Given the description of an element on the screen output the (x, y) to click on. 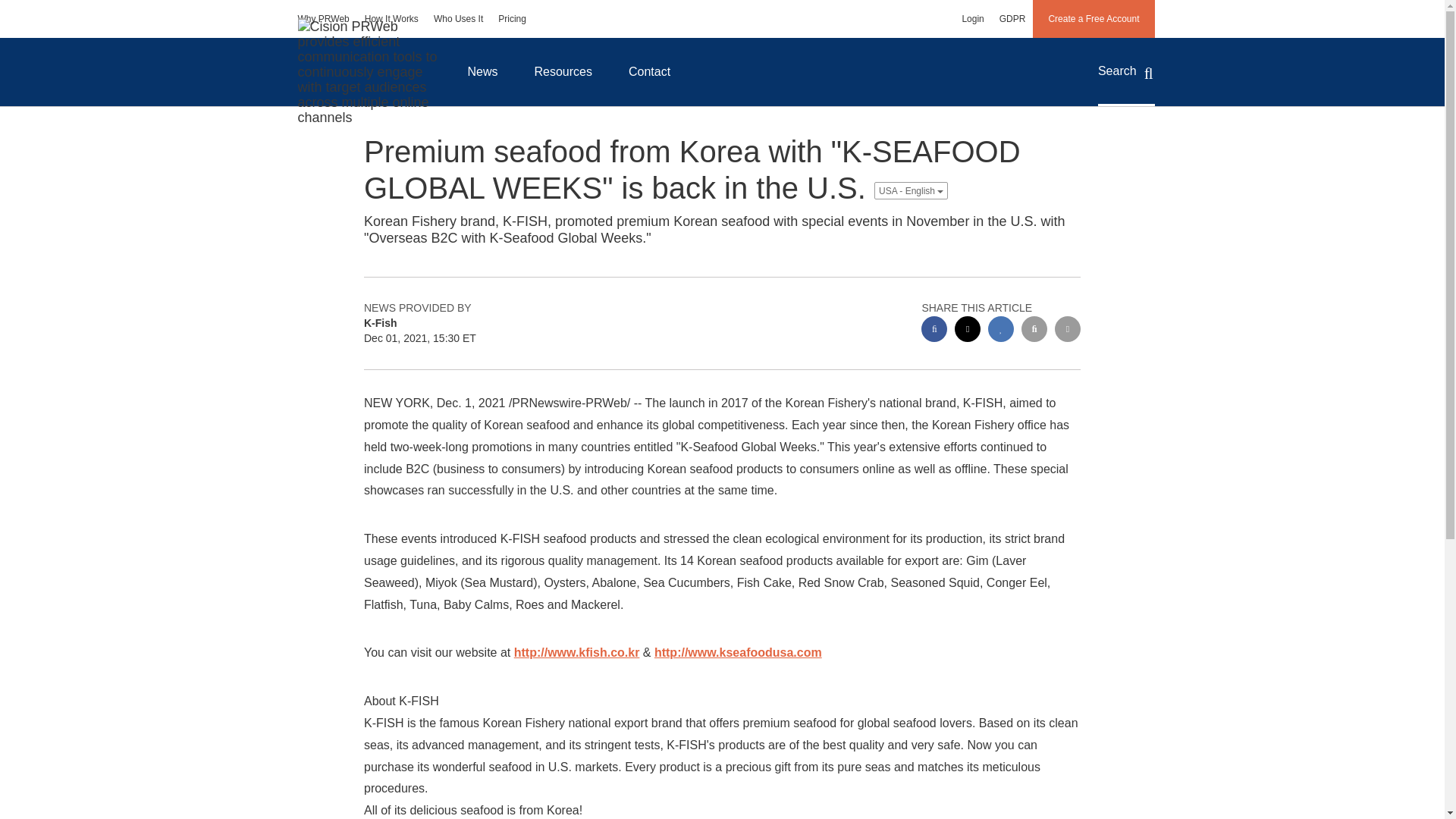
Contact (649, 71)
Pricing (512, 18)
Create a Free Account (1093, 18)
Why PRWeb (322, 18)
How It Works (391, 18)
Login (972, 18)
Who Uses It (458, 18)
GDPR (1012, 18)
Resources (563, 71)
